Given the description of an element on the screen output the (x, y) to click on. 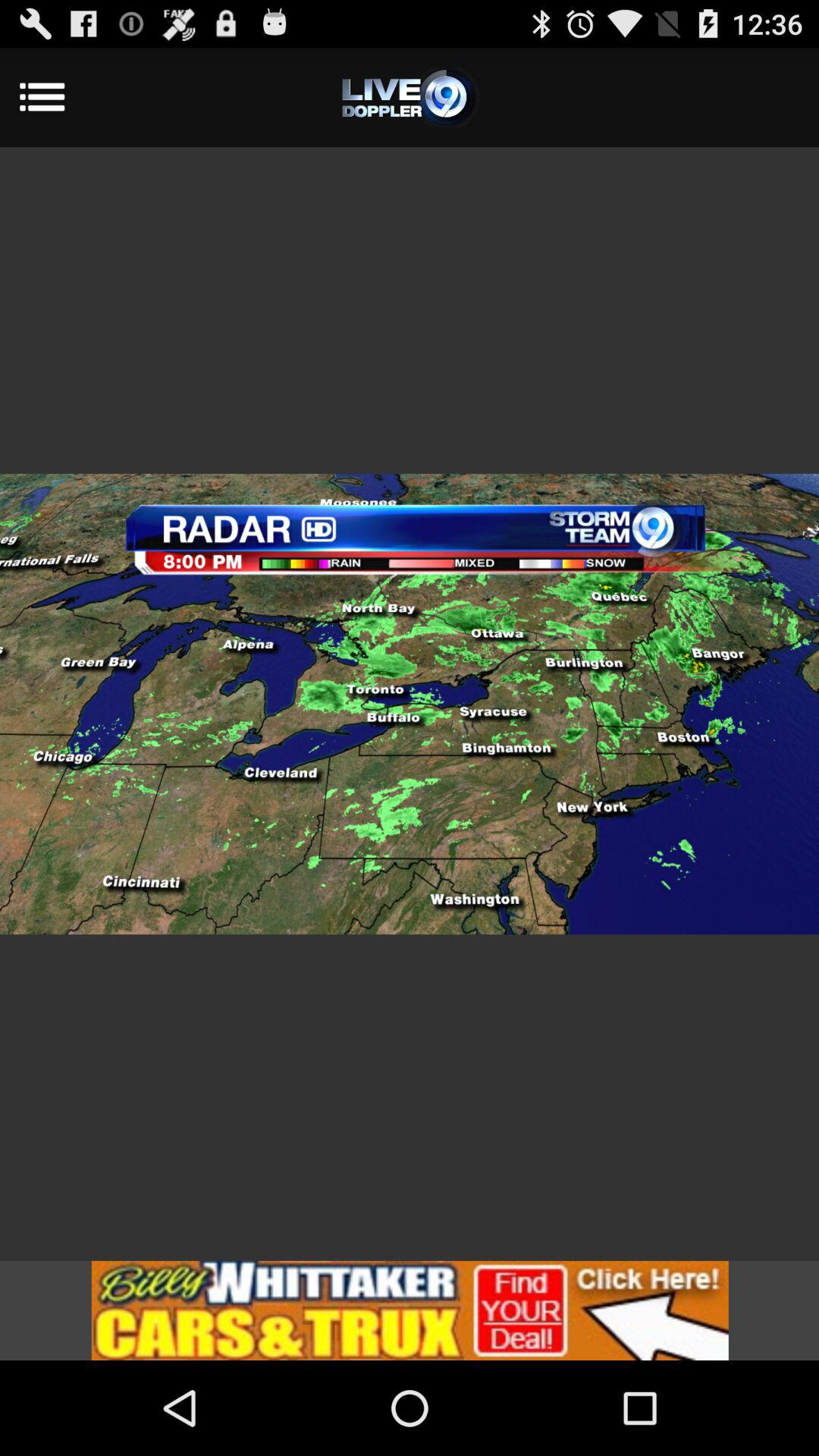
be redirected to an add for billy whittaker cars and trucks (409, 1310)
